Given the description of an element on the screen output the (x, y) to click on. 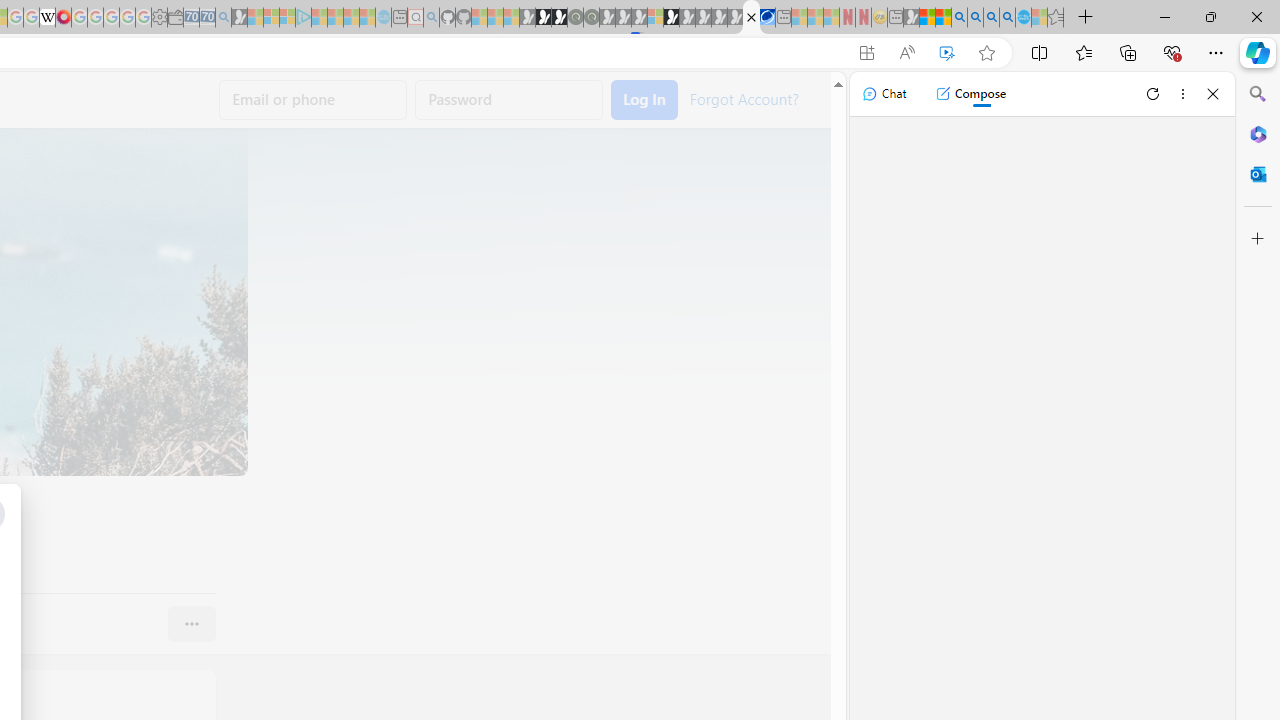
Forgot Account? (743, 97)
Sign in to your account - Sleeping (655, 17)
